Given the description of an element on the screen output the (x, y) to click on. 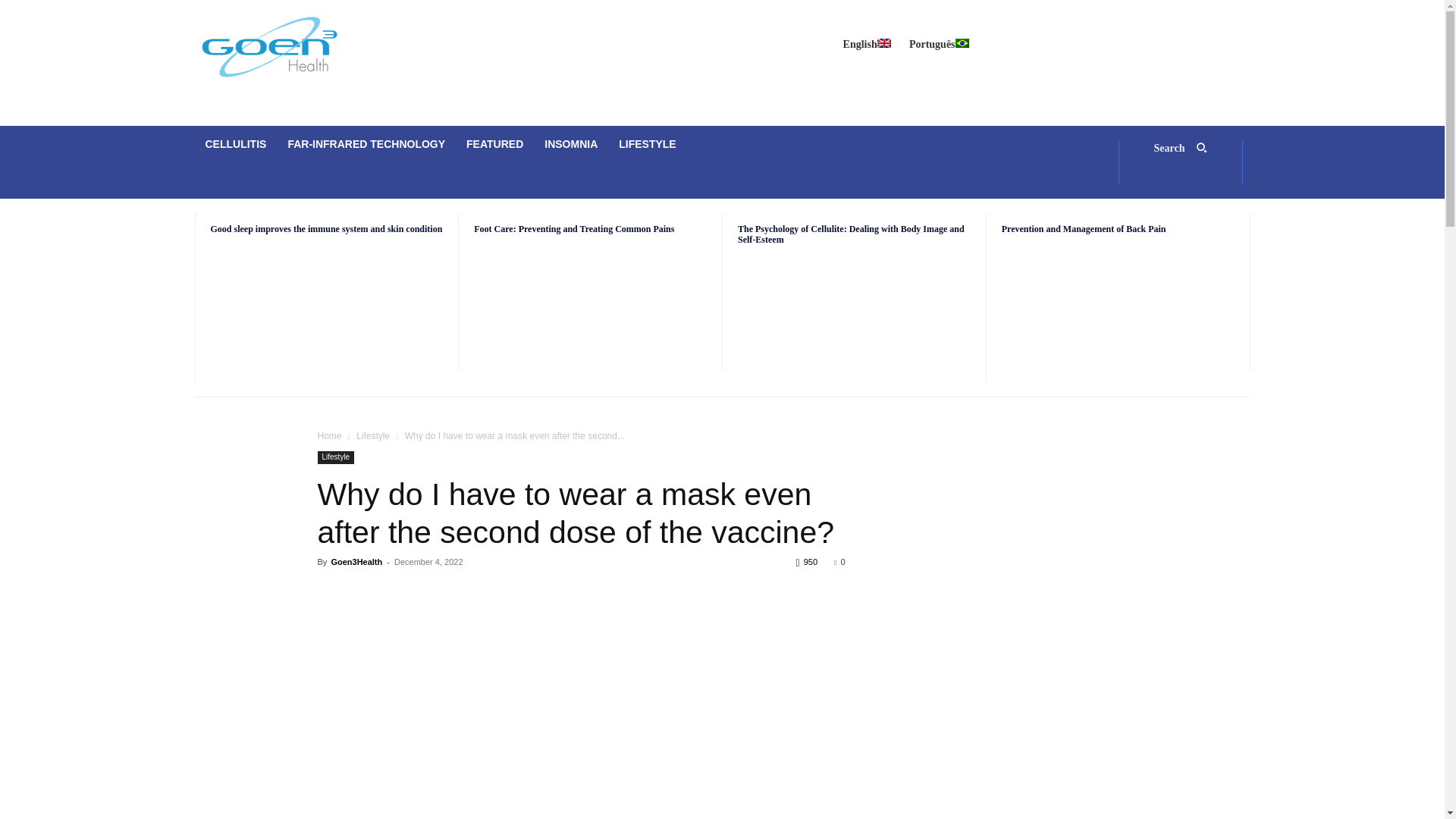
LIFESTYLE (646, 144)
0 (839, 561)
Good sleep improves the immune system and skin condition (327, 311)
Foot Care: Preventing and Treating Common Pains (590, 311)
CELLULITIS (234, 144)
Goen3Health (355, 561)
Prevention and Management of Back Pain (1083, 228)
Good sleep improves the immune system and skin condition (326, 228)
